Given the description of an element on the screen output the (x, y) to click on. 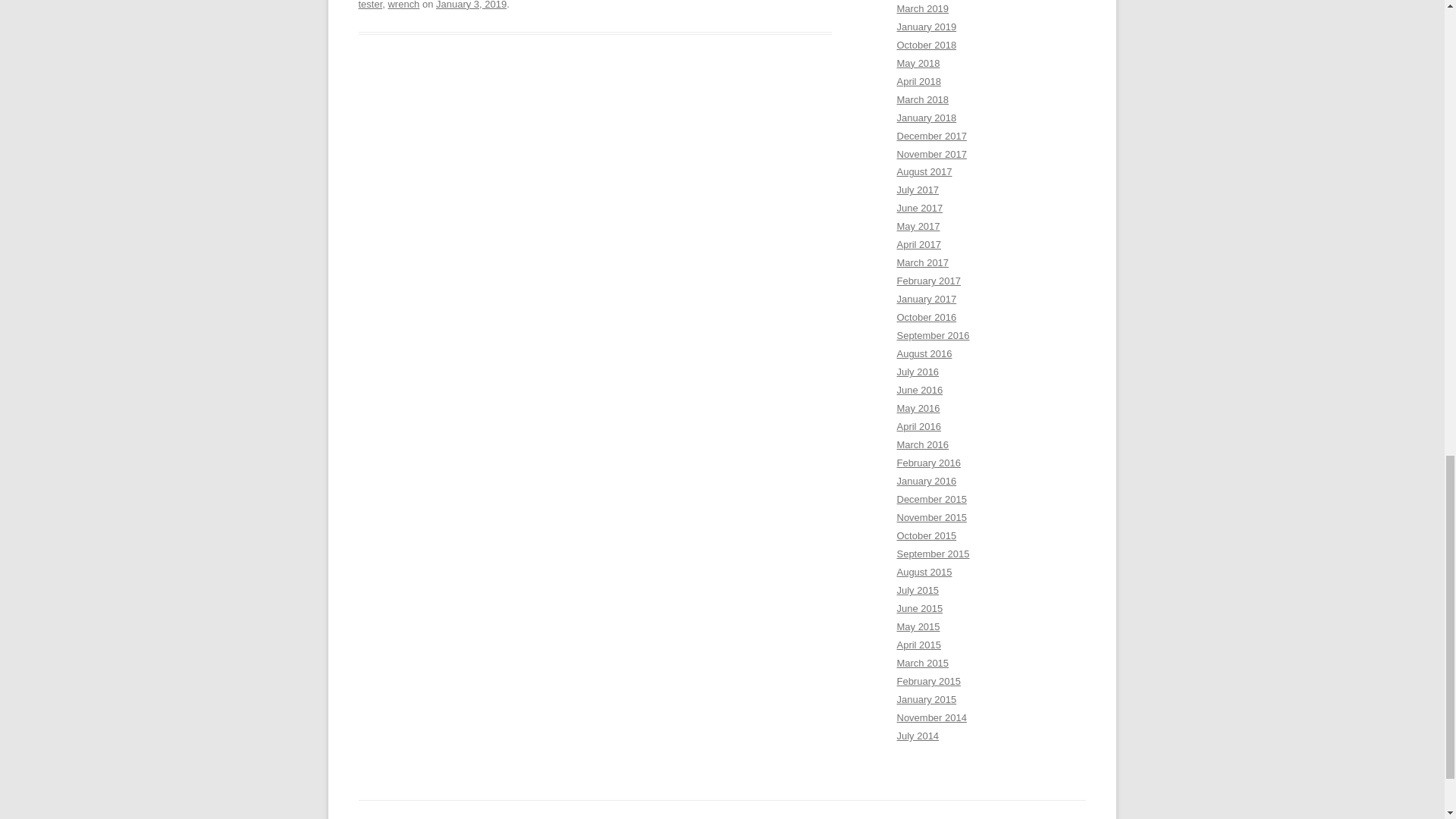
wrench (403, 4)
6:30 pm (470, 4)
voltage tester (583, 4)
January 3, 2019 (470, 4)
